Given the description of an element on the screen output the (x, y) to click on. 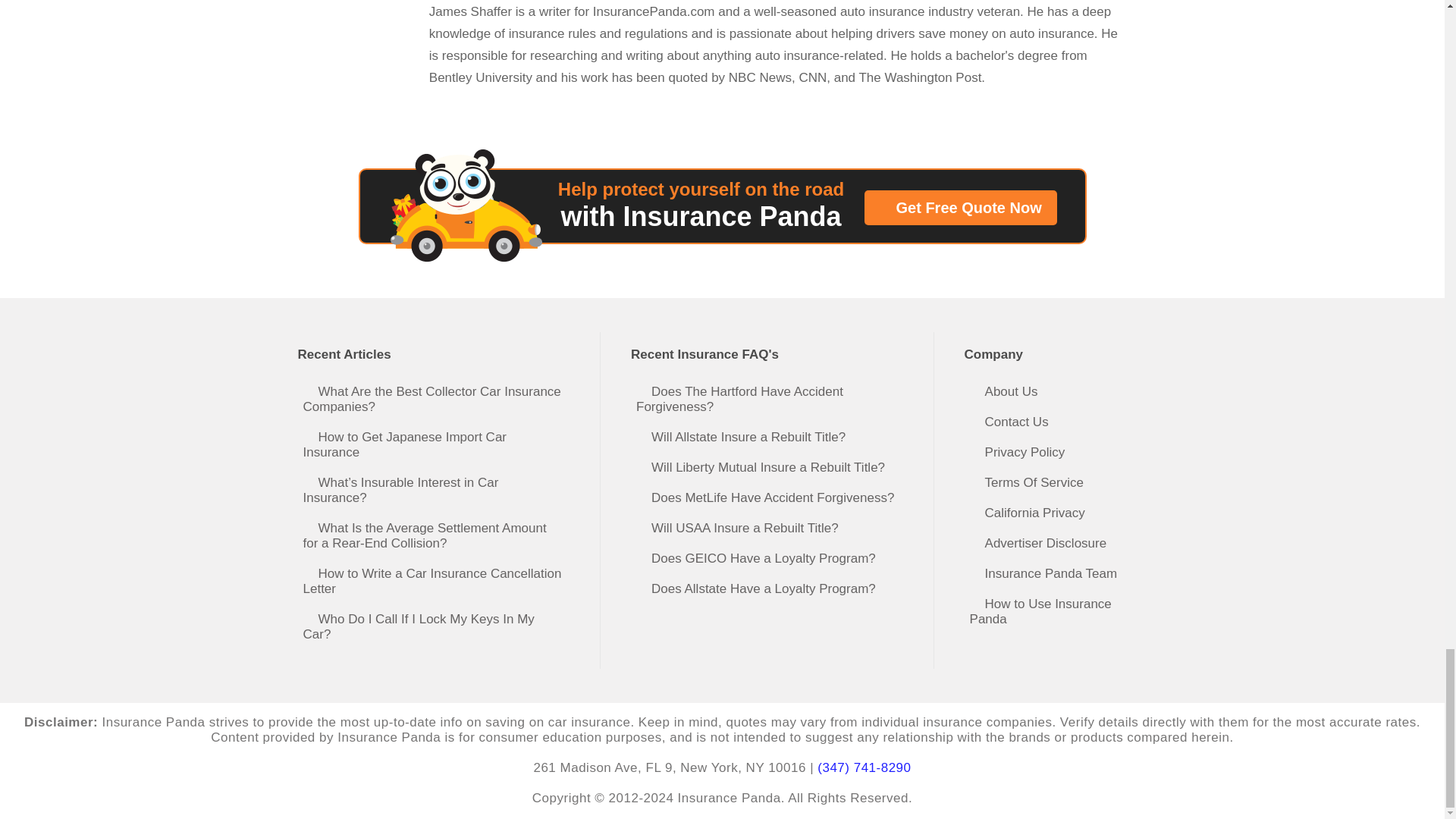
Will Allstate Insure a Rebuilt Title? (769, 436)
What Are the Best Collector Car Insurance Companies? (436, 399)
Does The Hartford Have Accident Forgiveness? (769, 399)
James Shaffer (775, 9)
Will Liberty Mutual Insure a Rebuilt Title? (769, 467)
Get Free Quote Now (960, 207)
How to Get Japanese Import Car Insurance (436, 444)
How to Write a Car Insurance Cancellation Letter (436, 581)
Who Do I Call If I Lock My Keys In My Car? (436, 627)
